Given the description of an element on the screen output the (x, y) to click on. 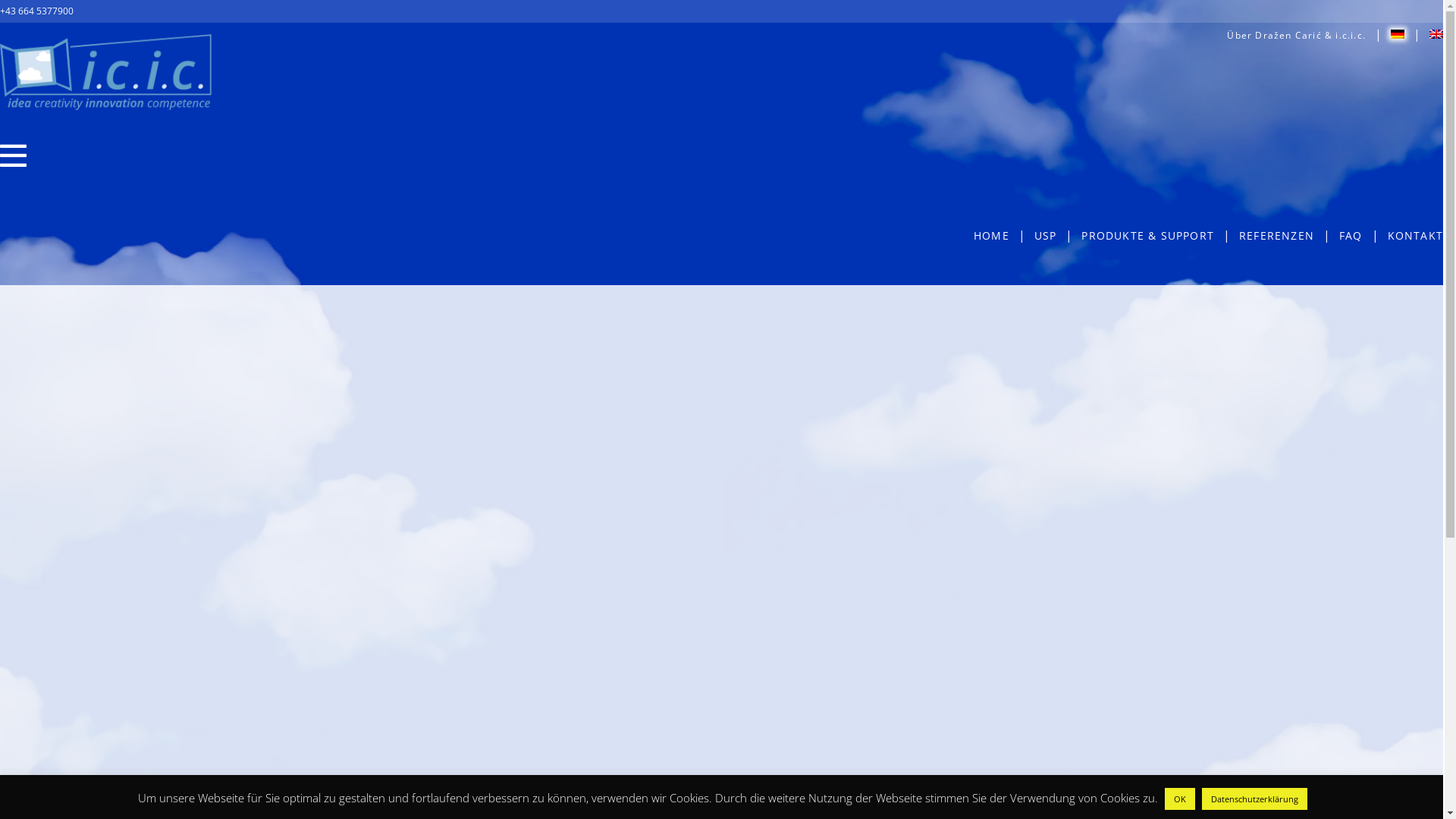
OK Element type: text (1179, 798)
REFERENZEN Element type: text (1276, 235)
KONTAKT Element type: text (1415, 235)
FAQ Element type: text (1350, 235)
HOME Element type: text (991, 235)
USP Element type: text (1045, 235)
PRODUKTE & SUPPORT Element type: text (1147, 235)
+43 664 5377900 Element type: text (36, 10)
